Given the description of an element on the screen output the (x, y) to click on. 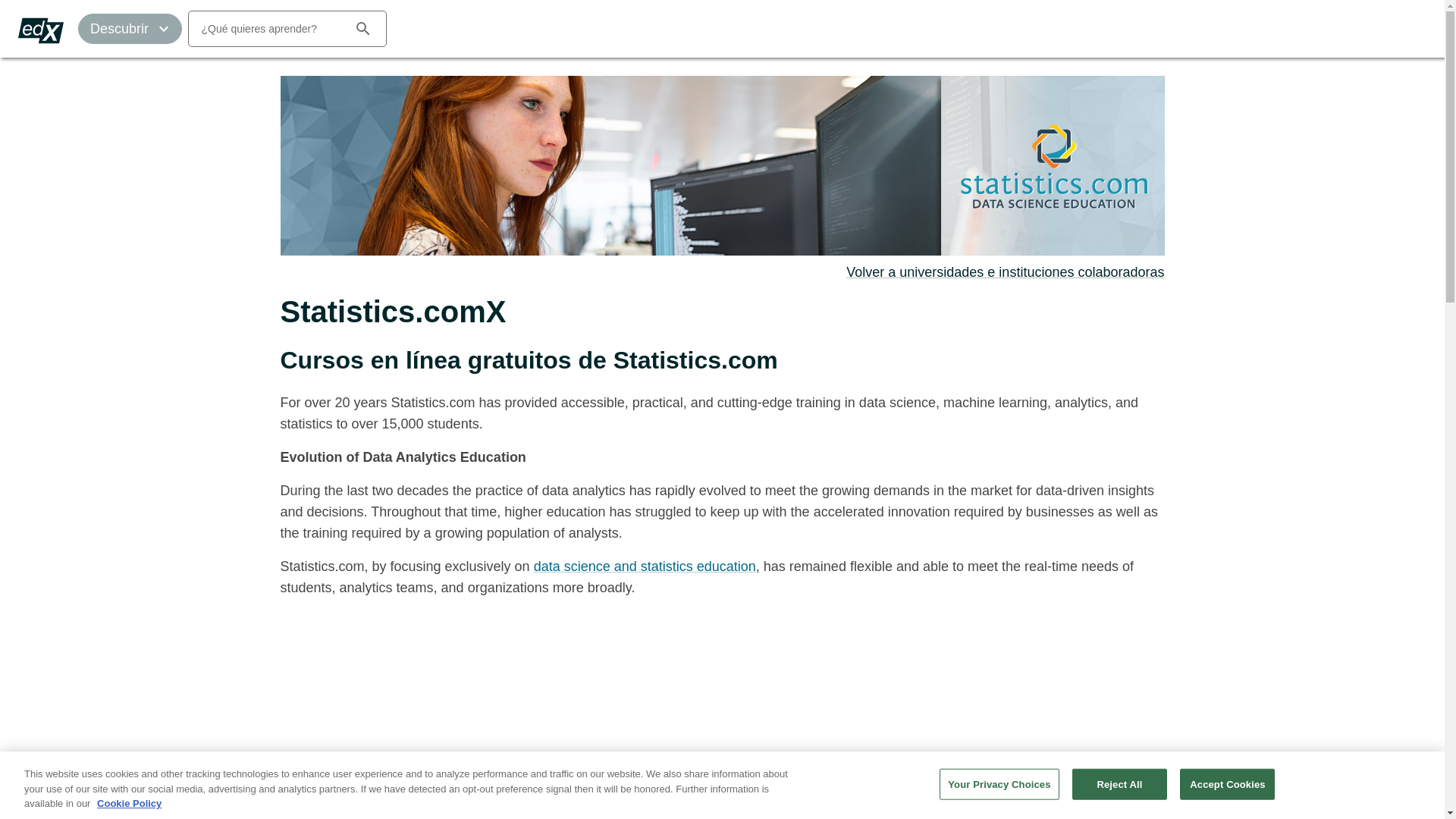
YouTube video player (492, 714)
Descubrir (130, 28)
data science and statistics education (644, 566)
Volver a universidades e instituciones colaboradoras (1004, 271)
